Given the description of an element on the screen output the (x, y) to click on. 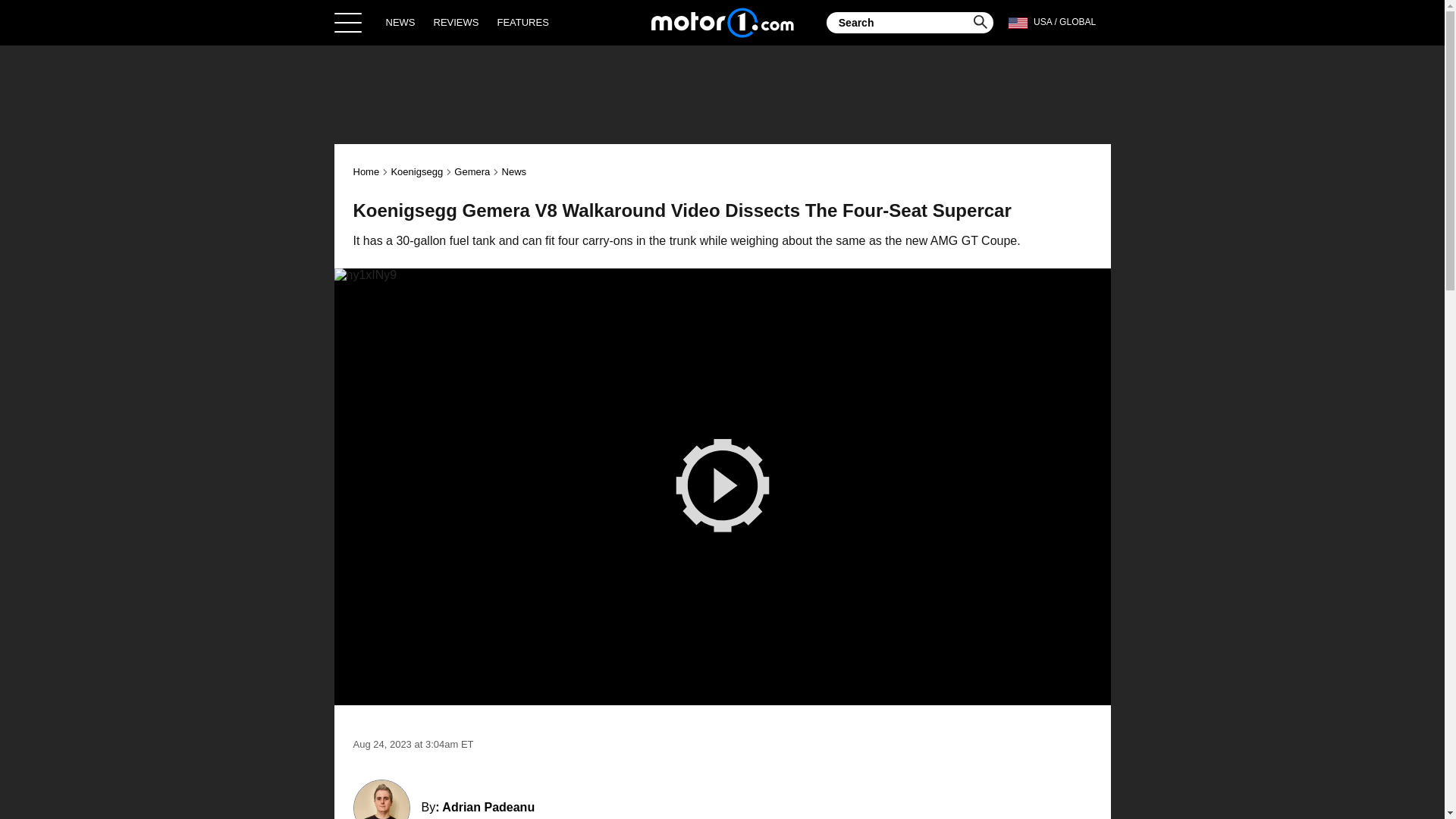
Gemera (471, 171)
Home (366, 171)
FEATURES (522, 22)
Adrian Padeanu (488, 807)
REVIEWS (456, 22)
Koenigsegg (416, 171)
News (514, 171)
NEWS (399, 22)
Home (721, 22)
